Given the description of an element on the screen output the (x, y) to click on. 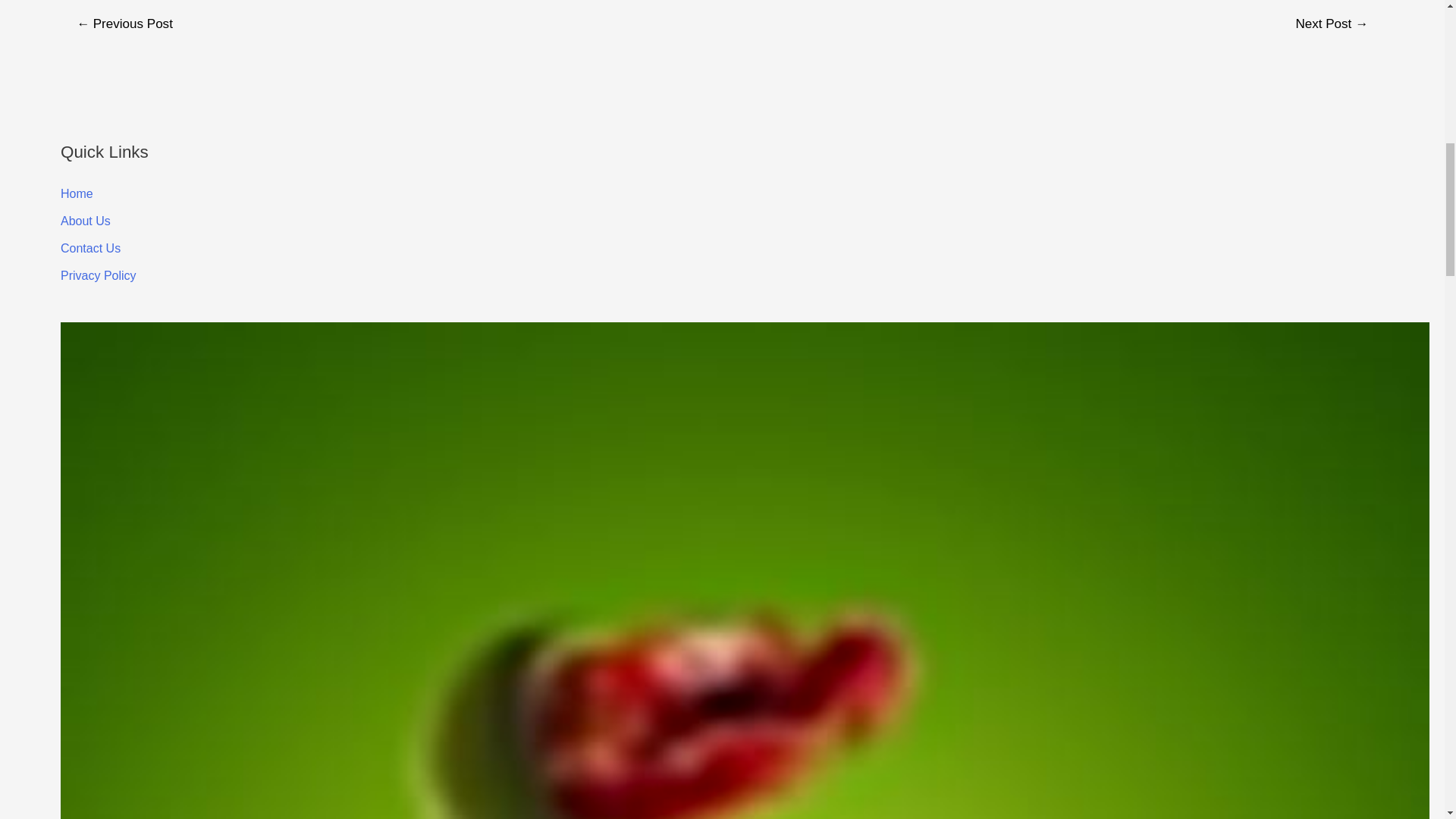
Contact Us (90, 247)
Privacy Policy (98, 275)
About Us (85, 220)
Home (77, 193)
